Given the description of an element on the screen output the (x, y) to click on. 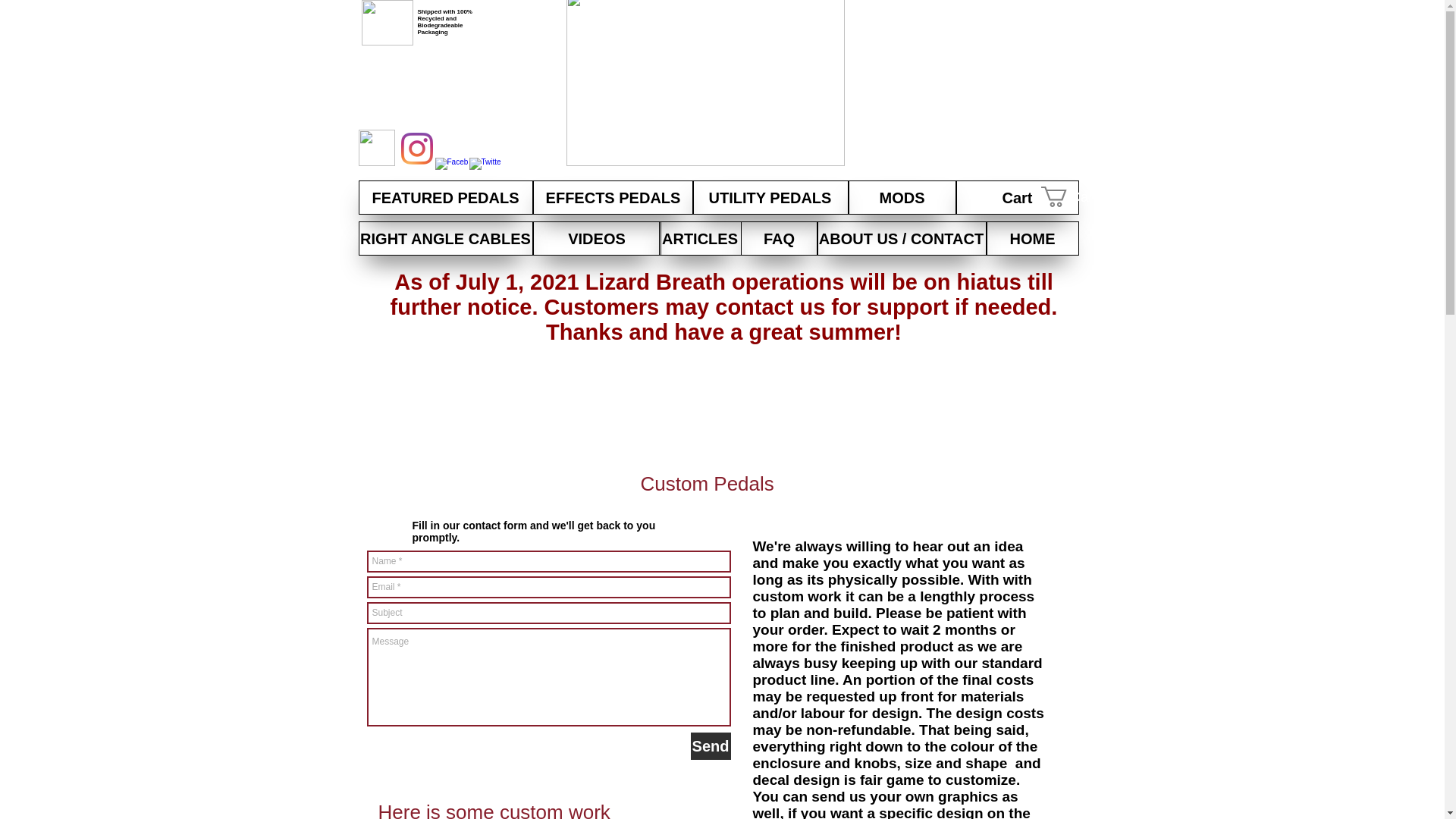
website png logo LB.png (376, 147)
Send (710, 746)
Cart (1016, 197)
FEATURED PEDALS (445, 197)
RIGHT ANGLE CABLES (445, 238)
UTILITY PEDALS (769, 197)
MODS (901, 197)
Cart: (1081, 196)
ARTICLES (699, 238)
VIDEOS (596, 238)
EFFECTS PEDALS (612, 197)
HOME (1031, 238)
FAQ (777, 238)
Cart: (1081, 196)
